Given the description of an element on the screen output the (x, y) to click on. 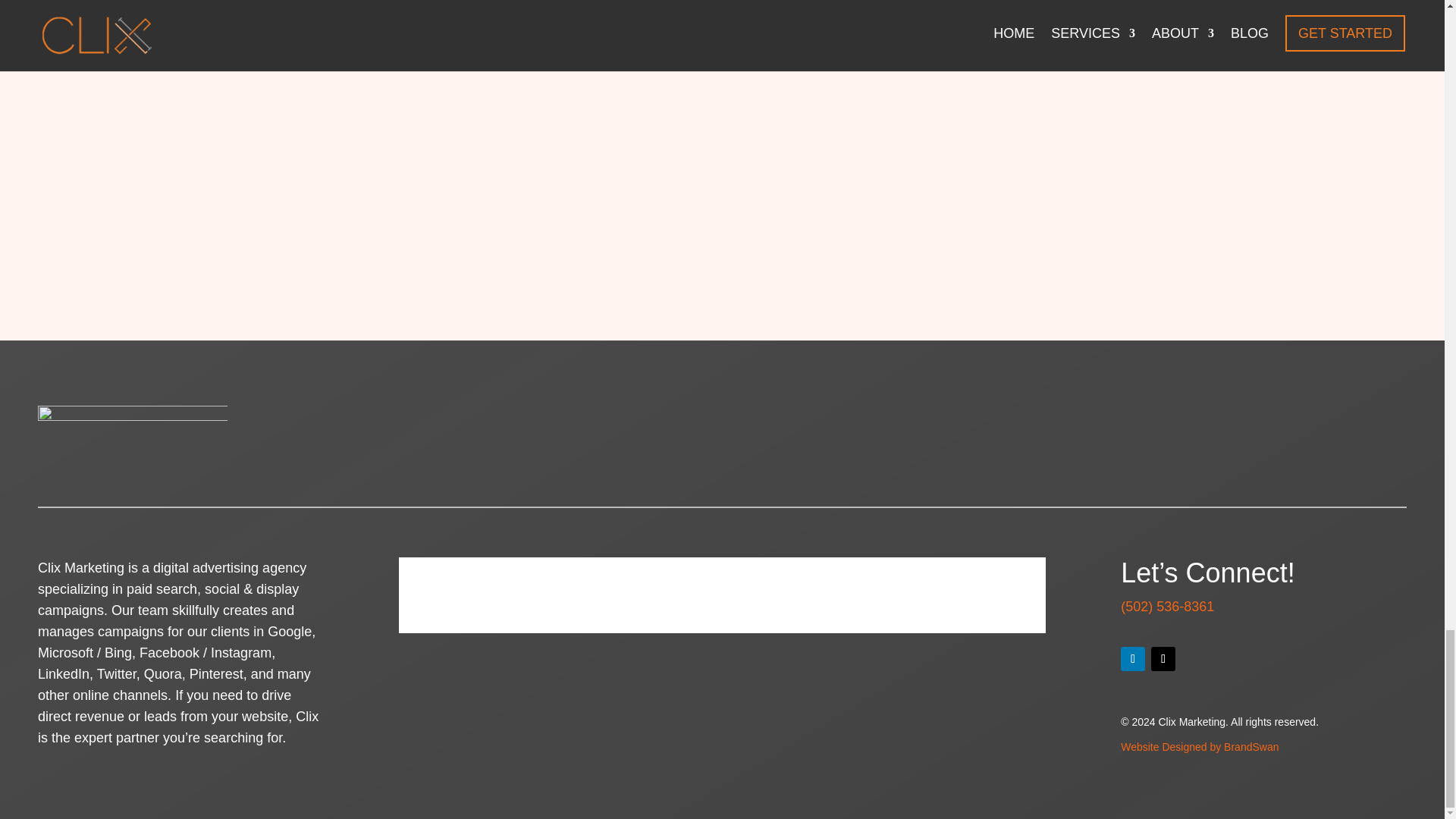
Follow on LinkedIn (1132, 658)
Delaware Web Design by BrandSwan (1199, 746)
Follow on X (1162, 658)
Website Designed by BrandSwan (1199, 746)
